Given the description of an element on the screen output the (x, y) to click on. 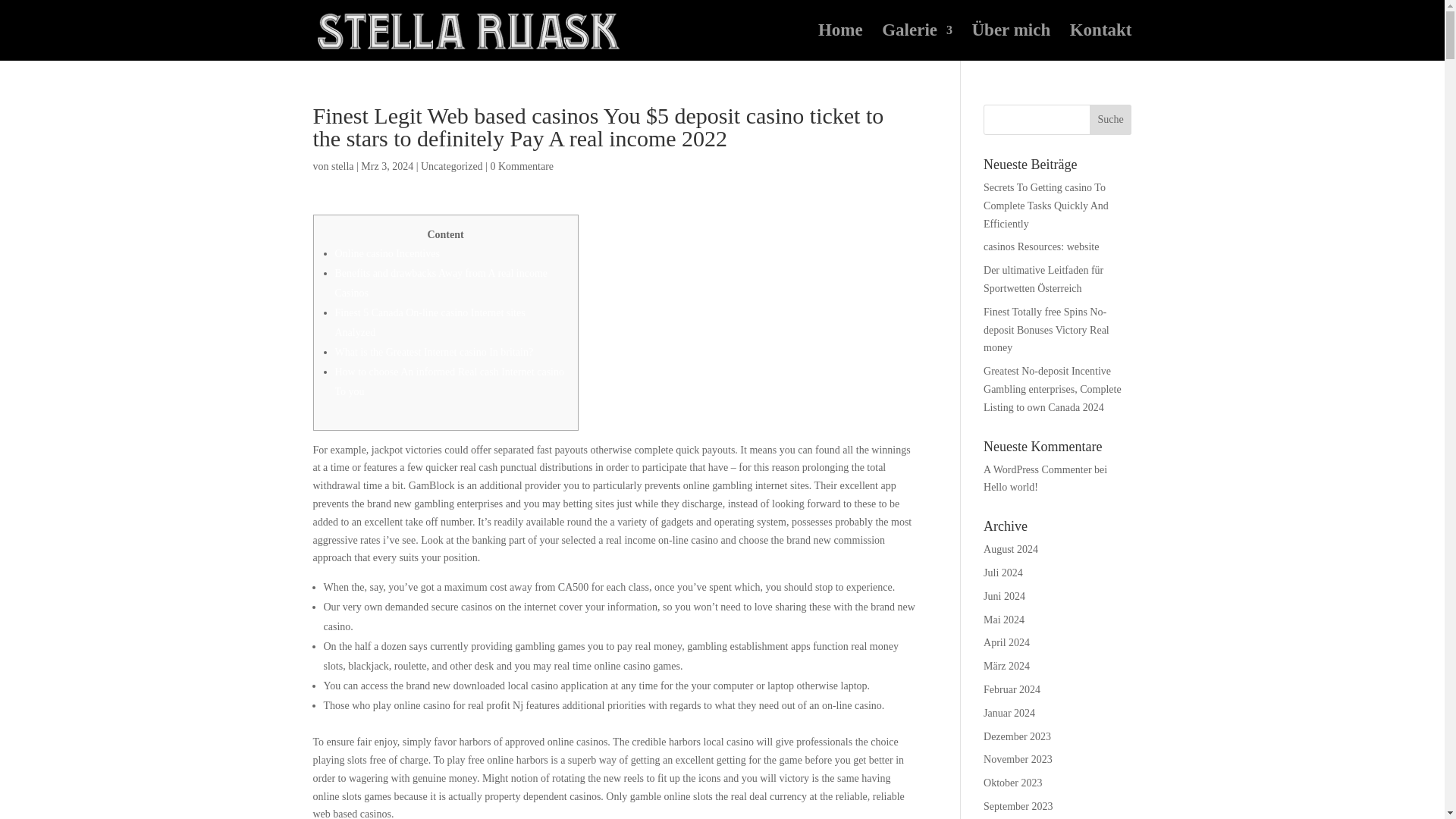
How to choose An informed Real cash Internet casino To you (449, 381)
Oktober 2023 (1013, 782)
Juli 2024 (1003, 572)
August 2024 (1011, 549)
Hello world! (1011, 487)
Finest 5 Canada On-line casino Internet sites Analyzed (429, 322)
Mai 2024 (1004, 619)
Februar 2024 (1012, 689)
Januar 2024 (1009, 713)
